Given the description of an element on the screen output the (x, y) to click on. 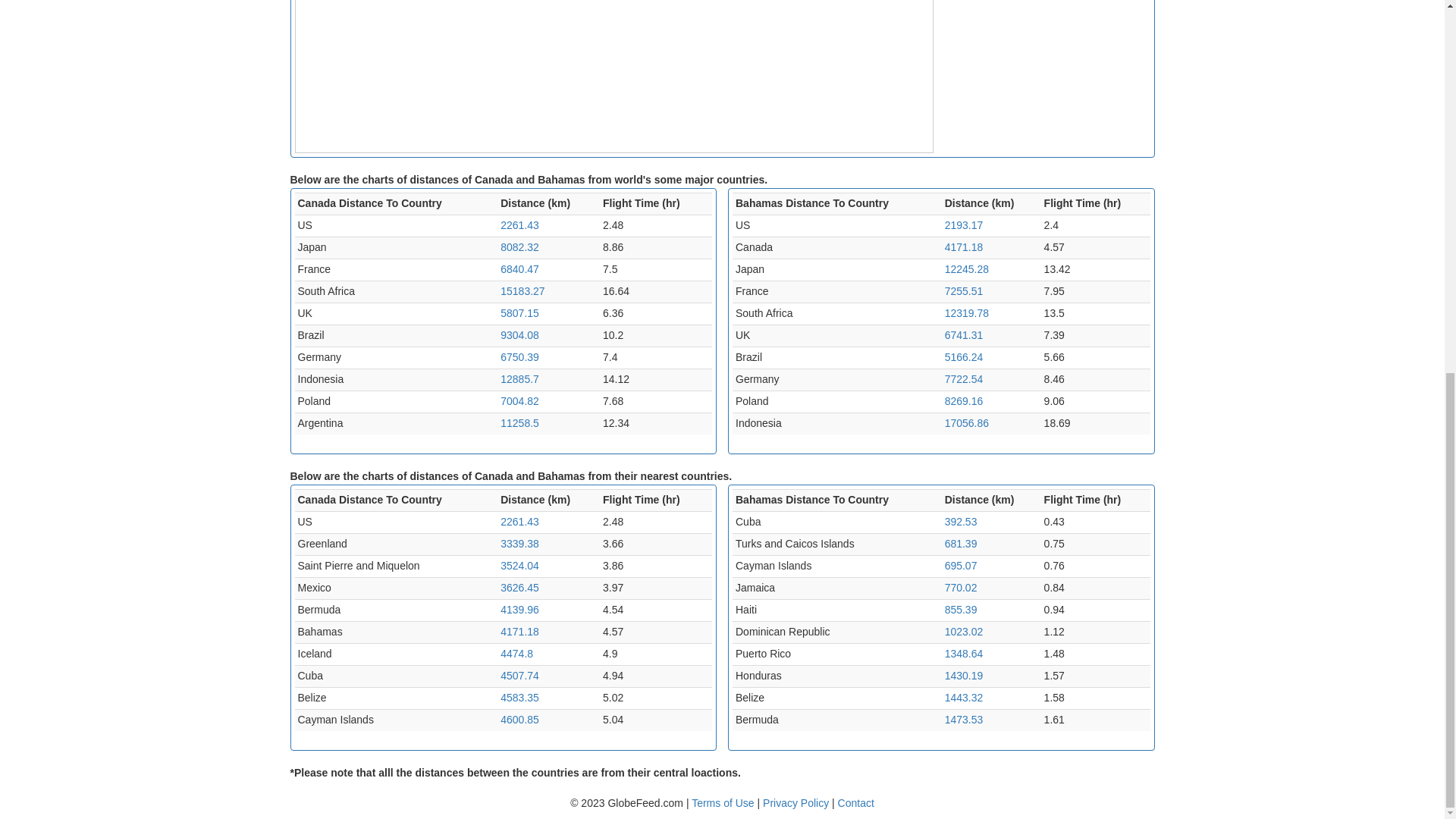
Distance between Bahamas and Germany (964, 378)
Distance between Bahamas and Poland (964, 400)
Distance between Canada and Argentina (519, 422)
17056.86 (966, 422)
4474.8 (516, 653)
Distance between Bahamas and UK (964, 335)
Distance between Bahamas and Brazil (964, 357)
15183.27 (522, 291)
Distance between Canada and Germany (519, 357)
7255.51 (964, 291)
6840.47 (519, 268)
12885.7 (519, 378)
3626.45 (519, 587)
Distance between Bahamas and Canada (964, 246)
6750.39 (519, 357)
